Given the description of an element on the screen output the (x, y) to click on. 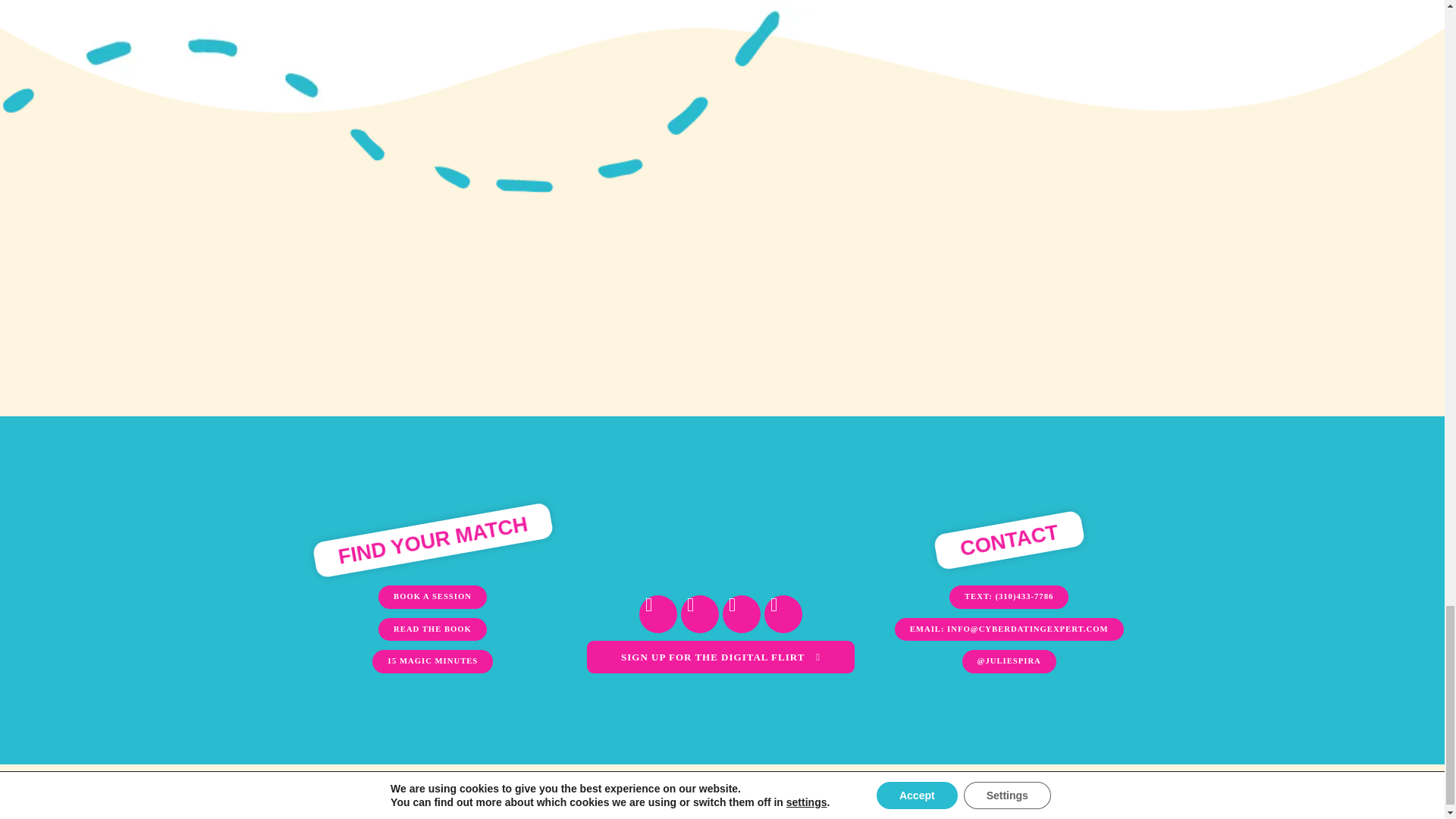
DCMA Policy (583, 782)
Terms of Use1 (322, 782)
Affiliate Disclosure (491, 782)
Privacy Policy (399, 782)
